Given the description of an element on the screen output the (x, y) to click on. 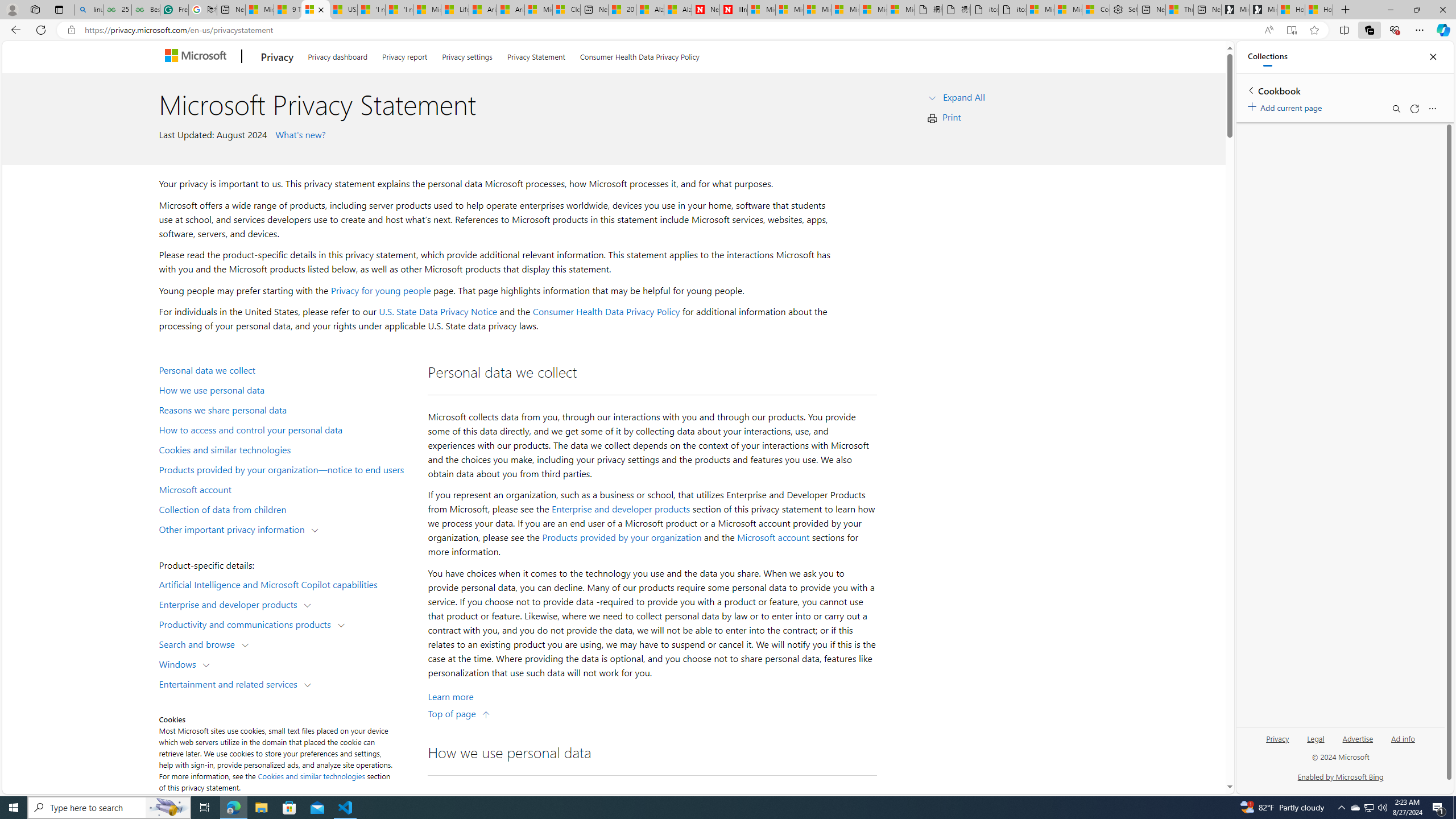
Products provided by your organization (621, 537)
Enterprise and developer products (620, 508)
How we use personal data (287, 389)
